Given the description of an element on the screen output the (x, y) to click on. 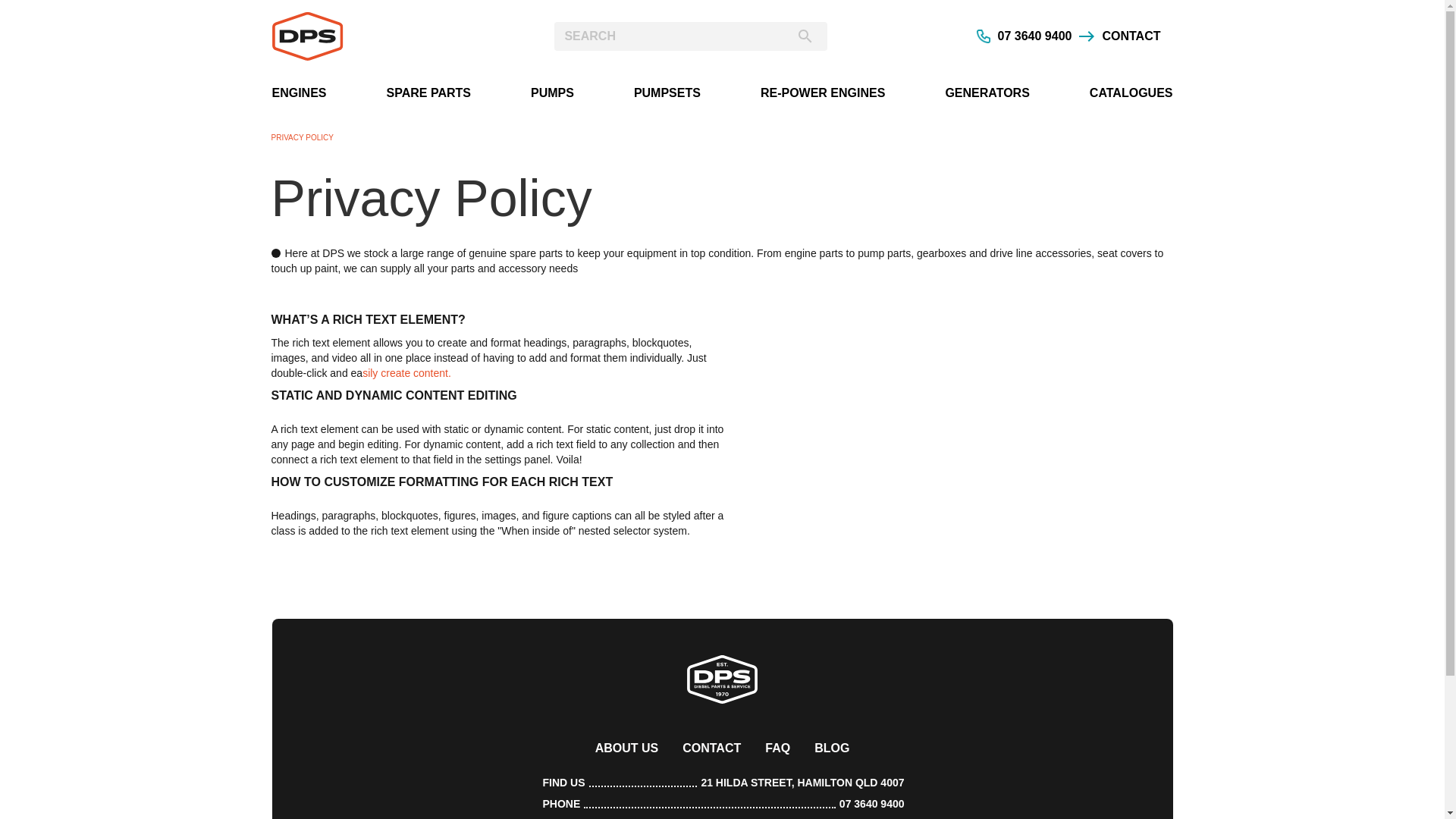
07 3640 9400 Element type: text (1024, 36)
CONTACT Element type: text (711, 748)
GENERATORS Element type: text (986, 93)
ABOUT US Element type: text (626, 748)
PUMPS Element type: text (552, 93)
SPARE PARTS Element type: text (428, 93)
RE-POWER ENGINES Element type: text (822, 93)
CATALOGUES Element type: text (1131, 93)
BLOG Element type: text (831, 748)
ENGINES Element type: text (298, 93)
PUMPSETS Element type: text (666, 93)
21 HILDA STREET, HAMILTON QLD 4007 Element type: text (801, 782)
FAQ Element type: text (777, 748)
07 3640 9400 Element type: text (871, 803)
sily create content. Element type: text (406, 373)
CONTACT Element type: text (1119, 36)
